Given the description of an element on the screen output the (x, y) to click on. 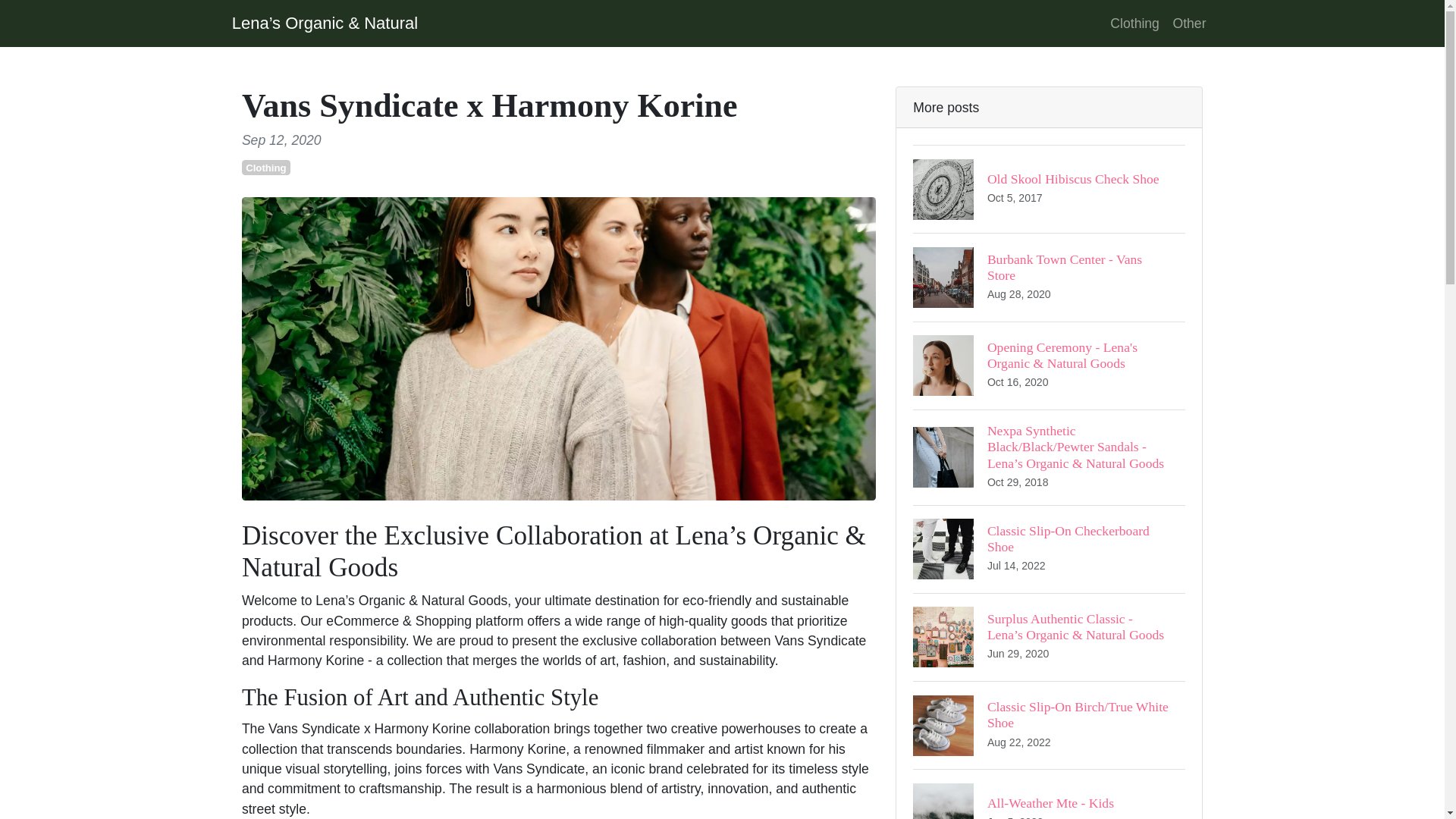
Clothing (1134, 23)
Other (1189, 23)
Clothing (1048, 188)
